Given the description of an element on the screen output the (x, y) to click on. 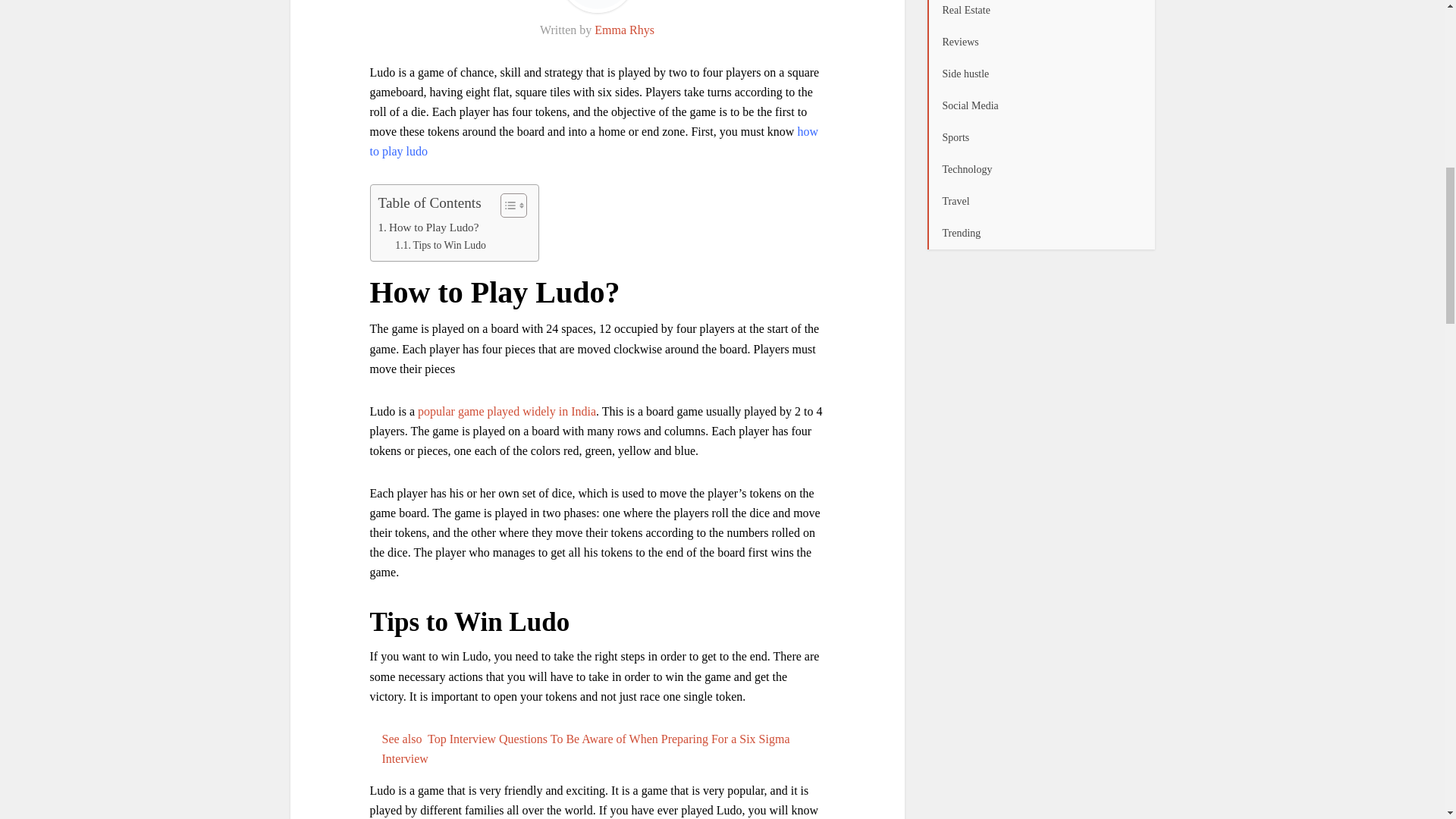
popular game played widely in India (506, 410)
Tips to Win Ludo (440, 245)
Emma Rhys (623, 29)
how to play ludo (593, 141)
How to Play Ludo? (428, 227)
Tips to Win Ludo (440, 245)
How to Play Ludo? (428, 227)
